Given the description of an element on the screen output the (x, y) to click on. 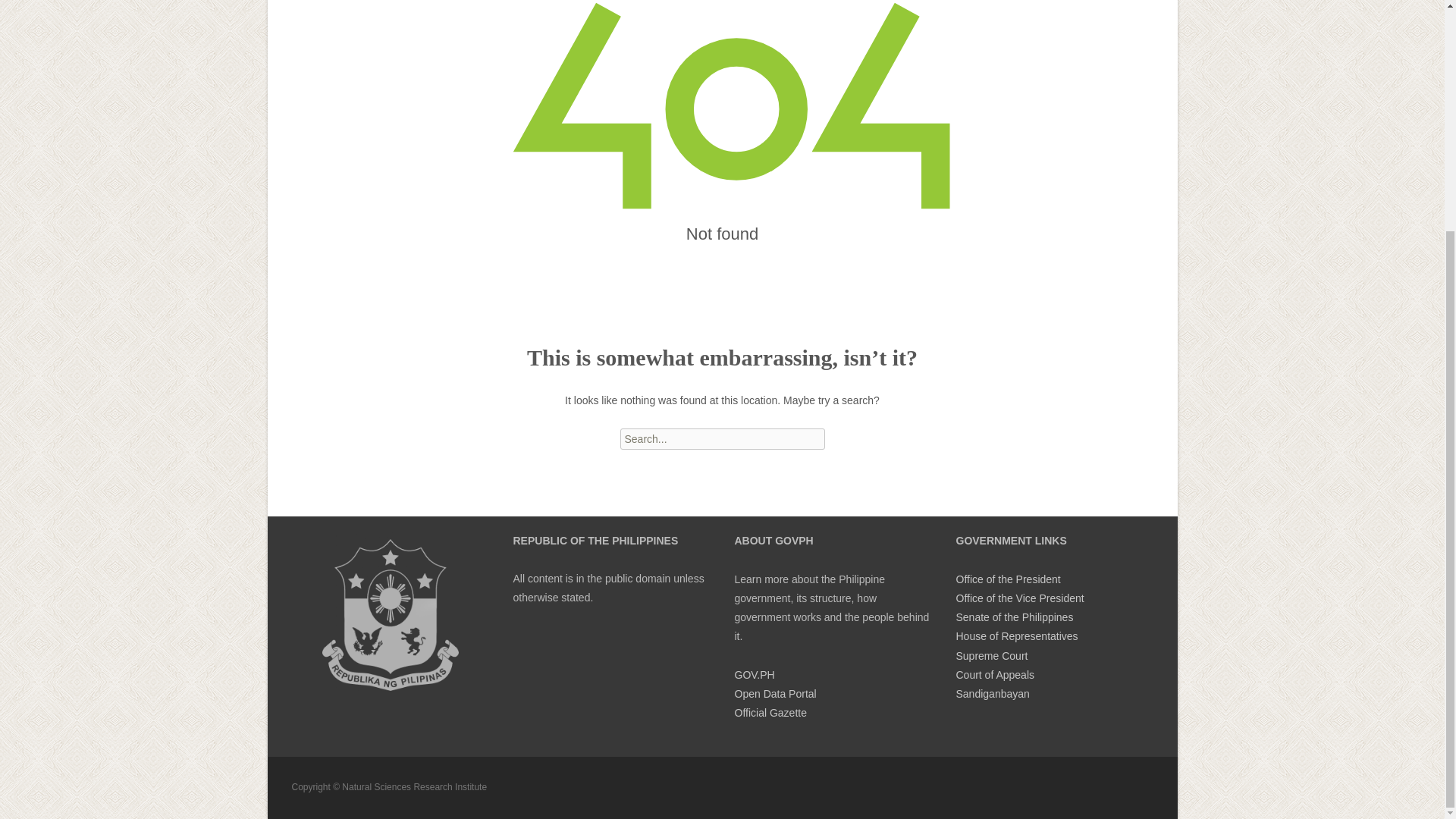
House of Representatives (1016, 635)
Open Data Portal (774, 693)
Official Gazette (769, 712)
Senate of the Philippines (1014, 616)
Office of the Vice President (1019, 598)
Office of the President (1007, 579)
Supreme Court (991, 655)
GOV.PH (753, 674)
Sandiganbayan (992, 693)
Court of Appeals (994, 674)
